Given the description of an element on the screen output the (x, y) to click on. 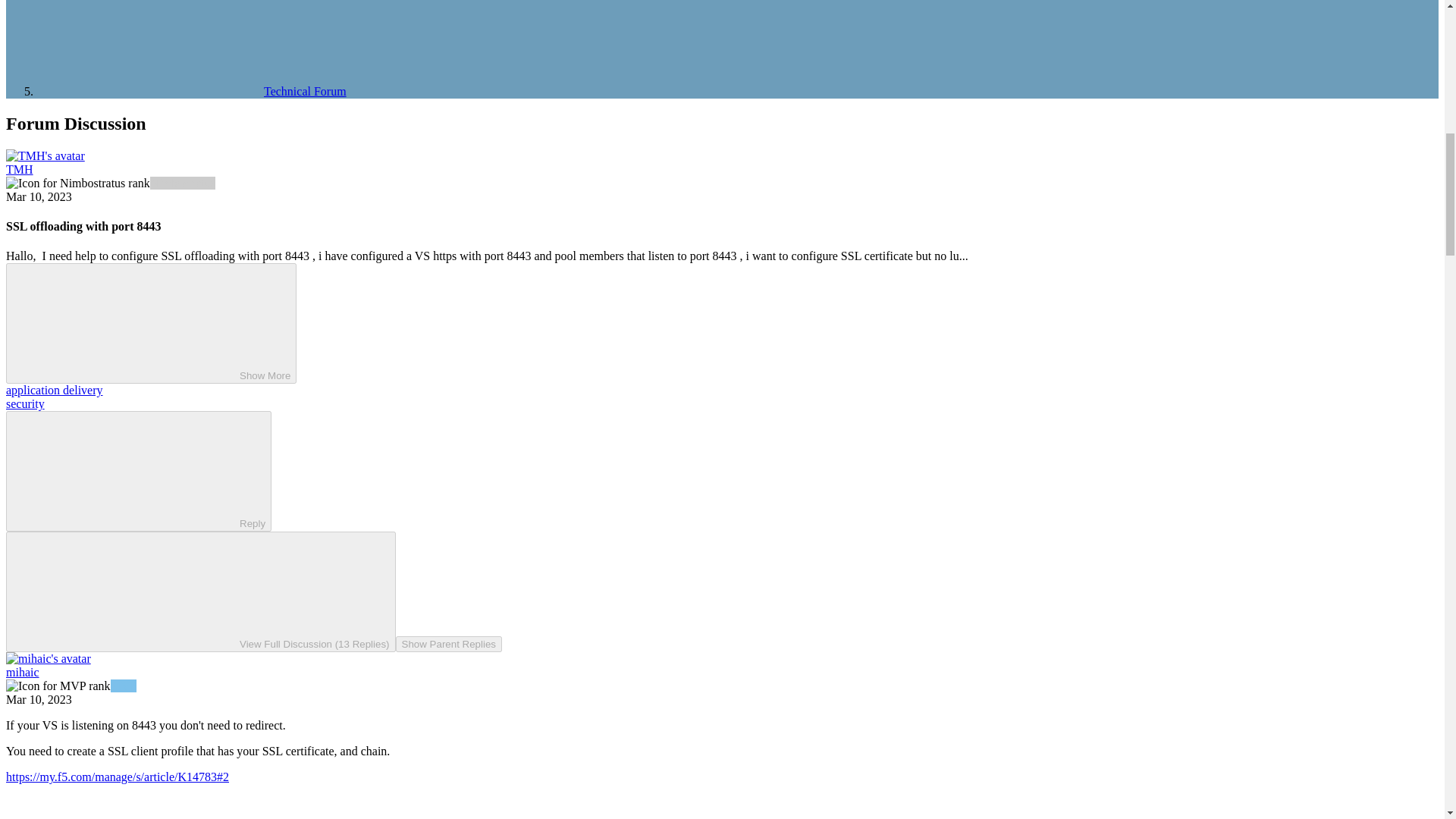
application delivery (54, 390)
Reply (125, 470)
March 10, 2023 at 8:49 AM (38, 698)
March 10, 2023 at 6:50 AM (38, 196)
security (25, 403)
ReplyReply (137, 471)
mihaic (22, 671)
Technical Forum (191, 91)
TMH (19, 169)
Show Parent Replies (449, 643)
